Given the description of an element on the screen output the (x, y) to click on. 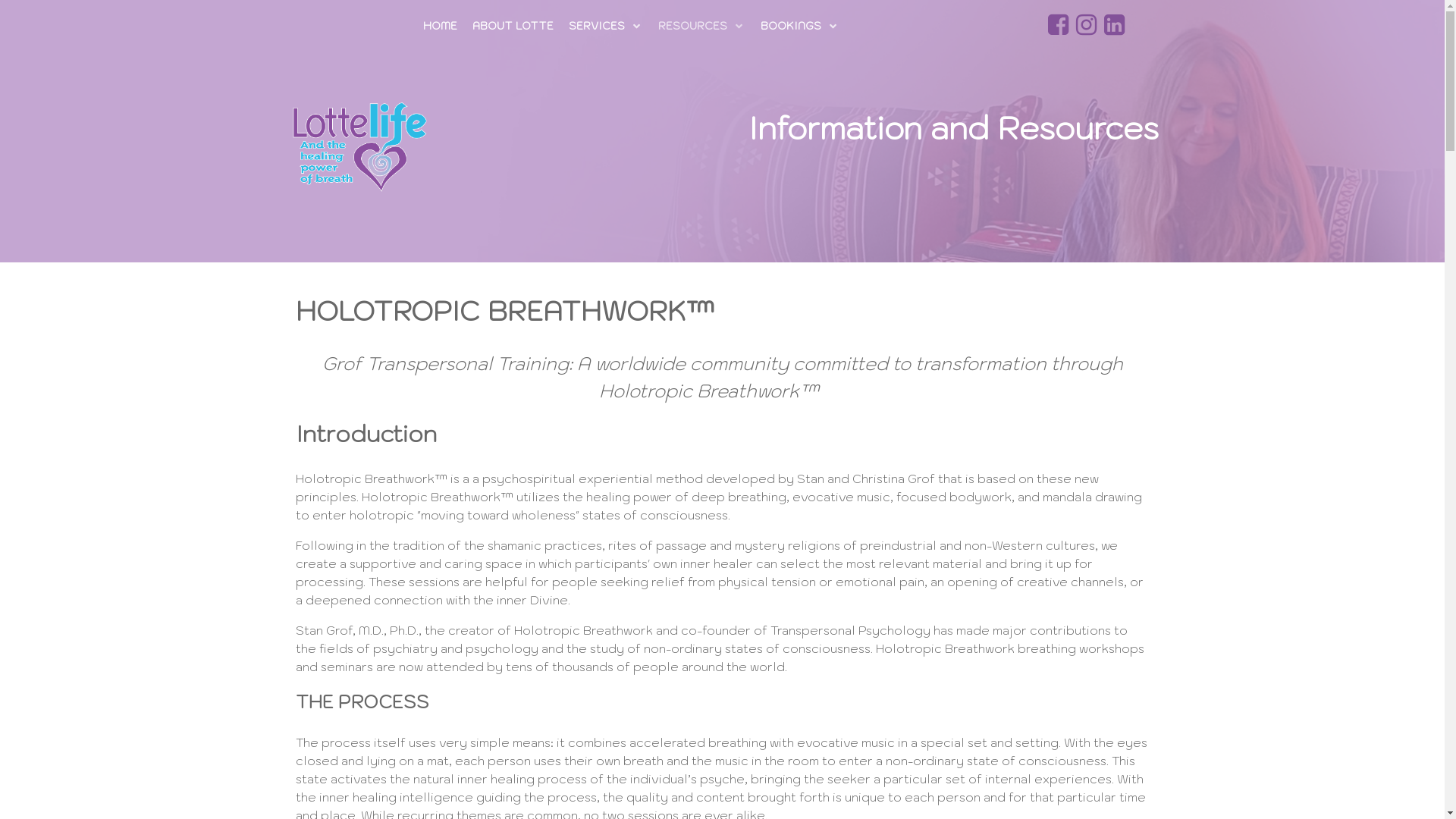
HOME Element type: text (440, 25)
ABOUT LOTTE Element type: text (512, 25)
